Given the description of an element on the screen output the (x, y) to click on. 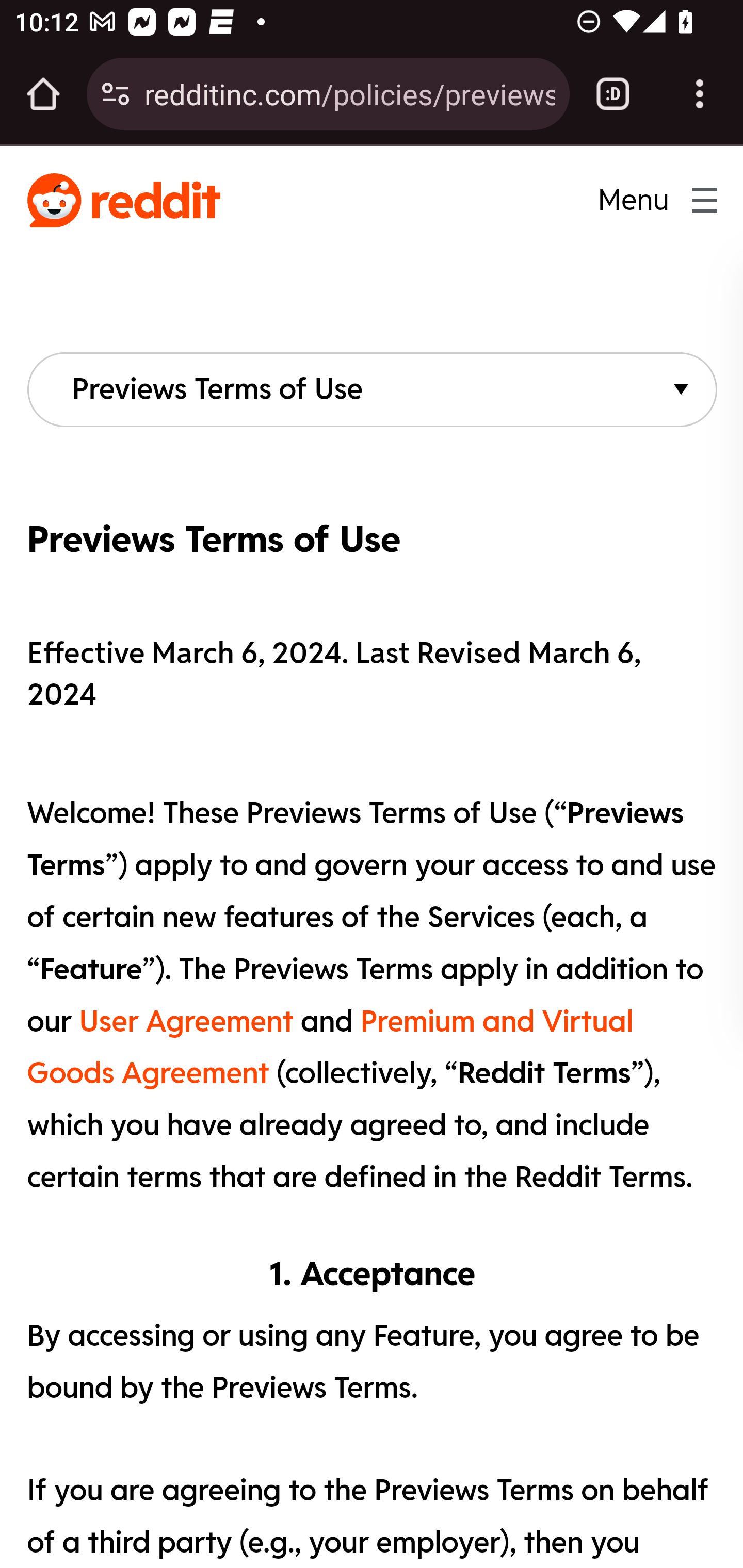
Open the home page (43, 93)
Connection is secure (115, 93)
Switch or close tabs (612, 93)
Customize and control Google Chrome (699, 93)
redditinc.com/policies/previews-terms (349, 92)
reddit (123, 201)
Menu (644, 199)
Premium and Virtual Goods Agreement (329, 1047)
User Agreement (185, 1021)
